Given the description of an element on the screen output the (x, y) to click on. 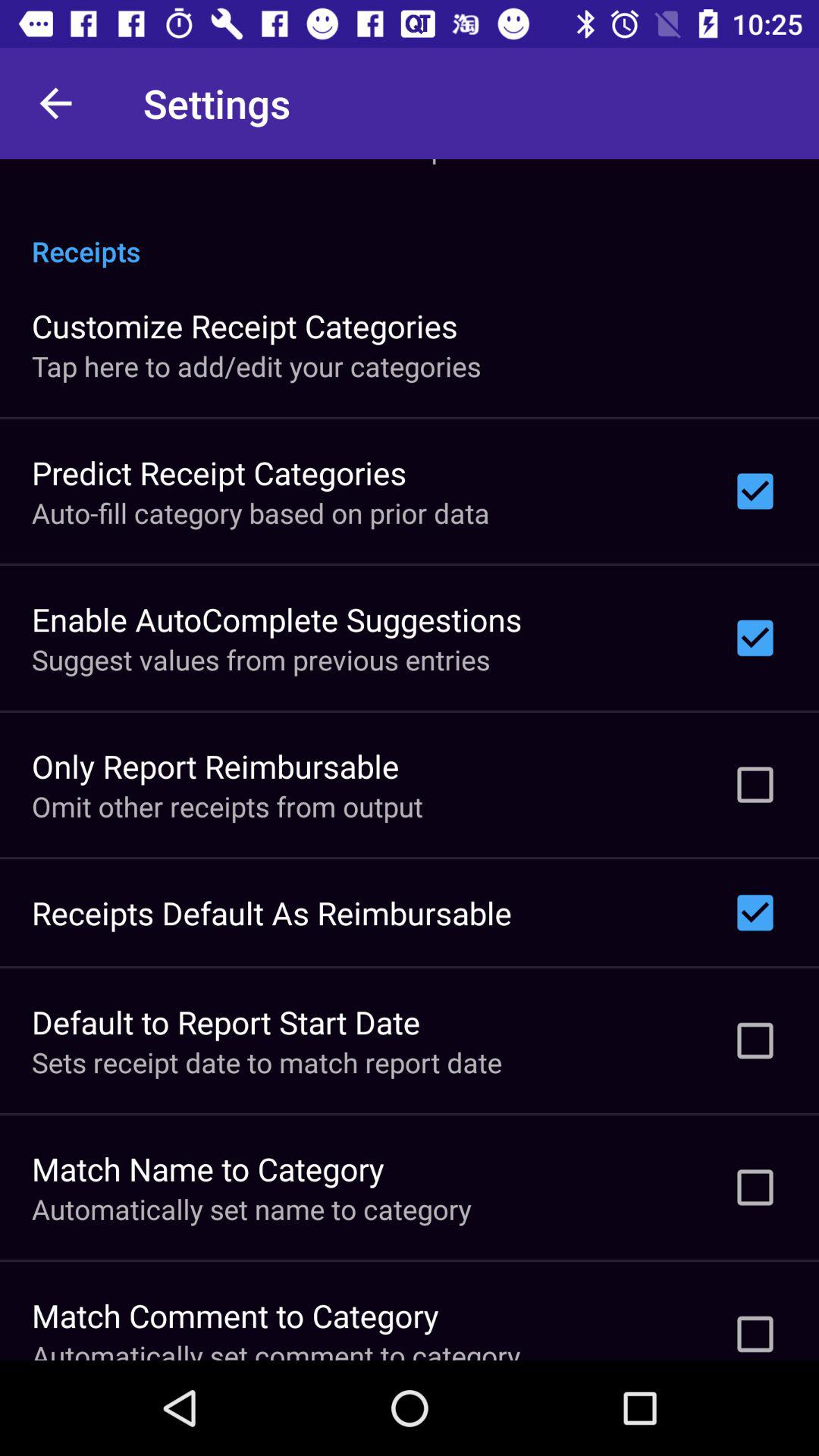
press the item above receipts default as (227, 806)
